Given the description of an element on the screen output the (x, y) to click on. 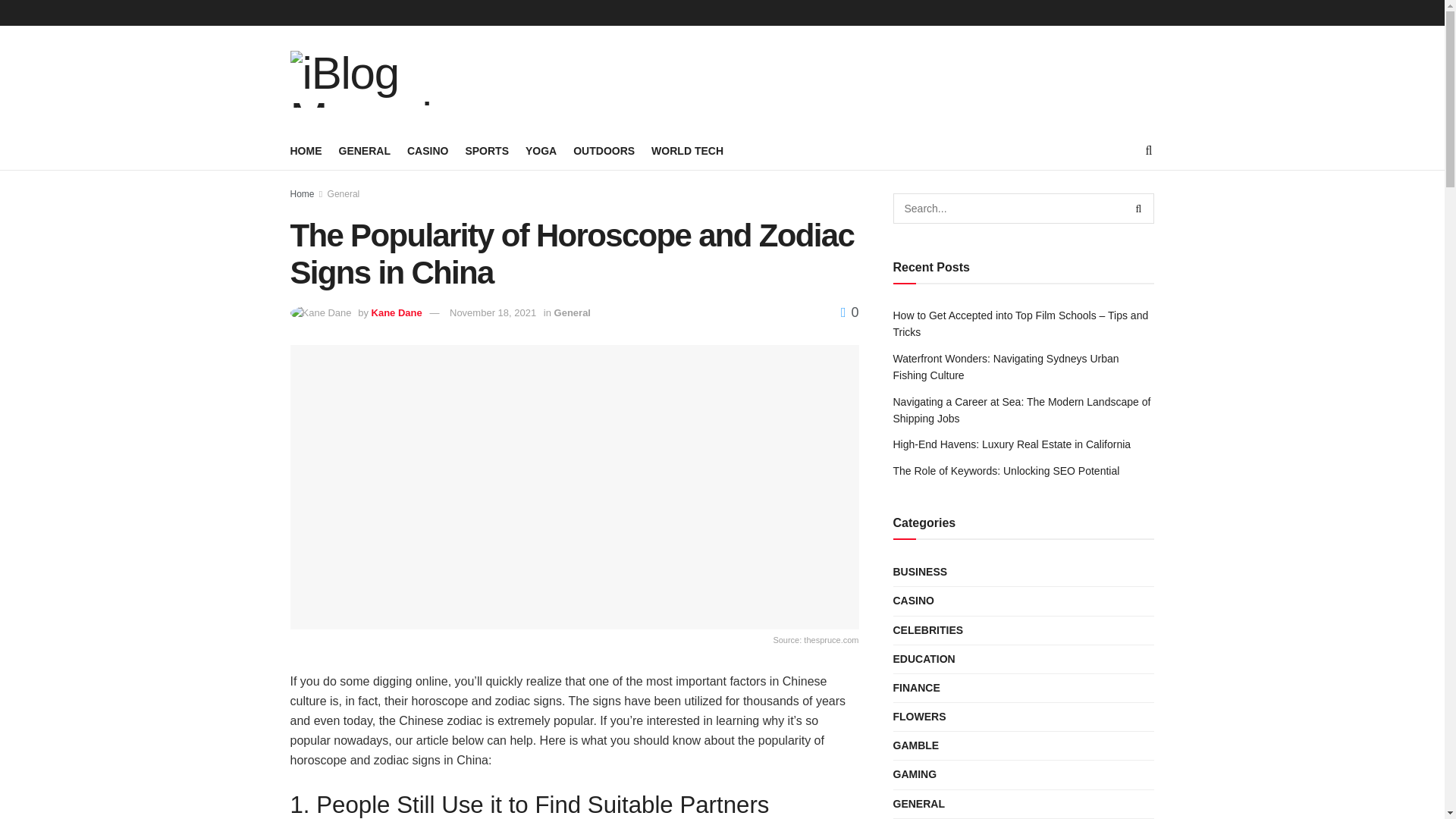
OUTDOORS (603, 150)
CASINO (427, 150)
WORLD TECH (686, 150)
0 (850, 312)
Home (301, 194)
HOME (305, 150)
YOGA (540, 150)
Kane Dane (396, 312)
General (343, 194)
GENERAL (363, 150)
